Given the description of an element on the screen output the (x, y) to click on. 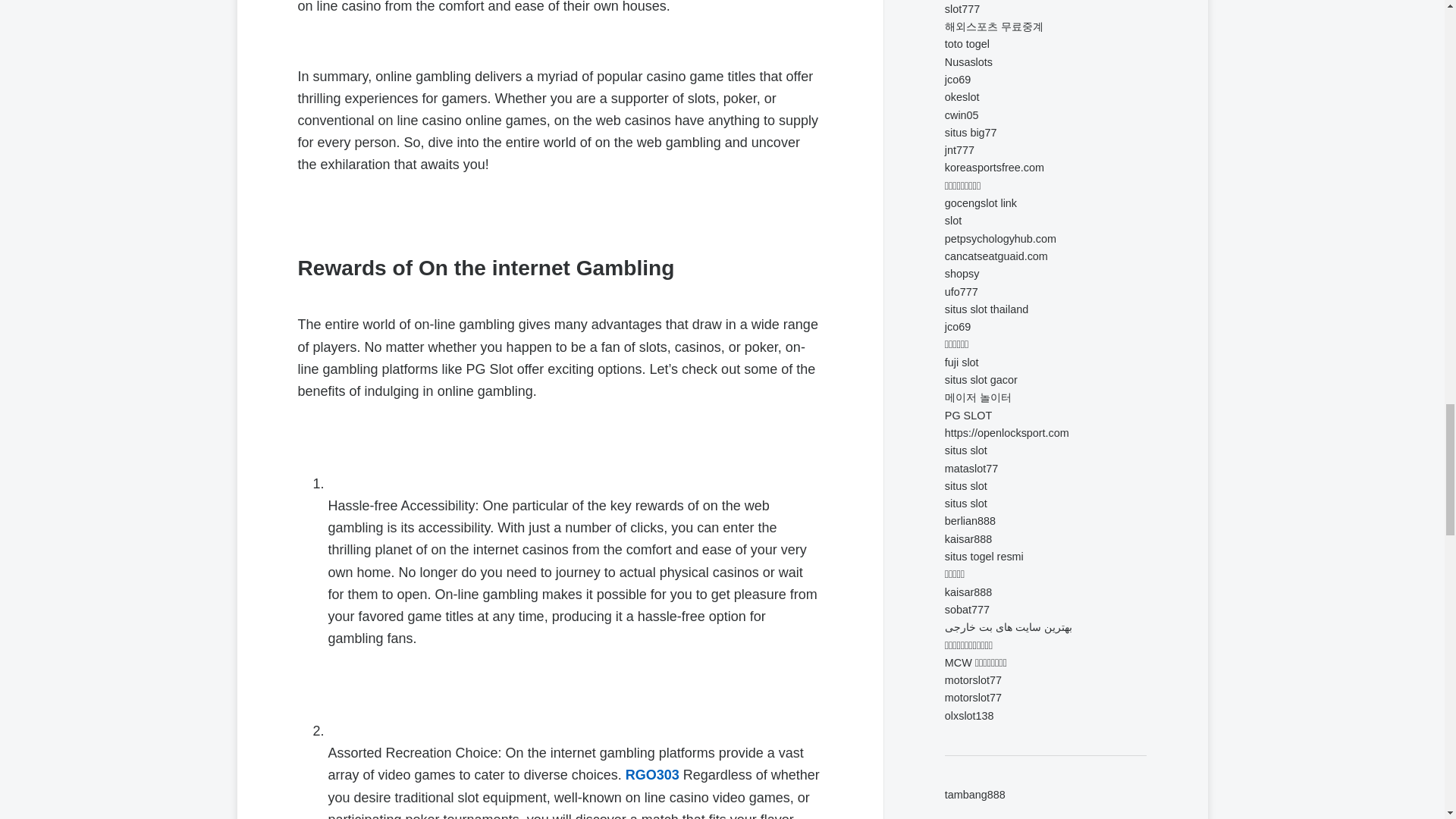
RGO303 (652, 774)
